Given the description of an element on the screen output the (x, y) to click on. 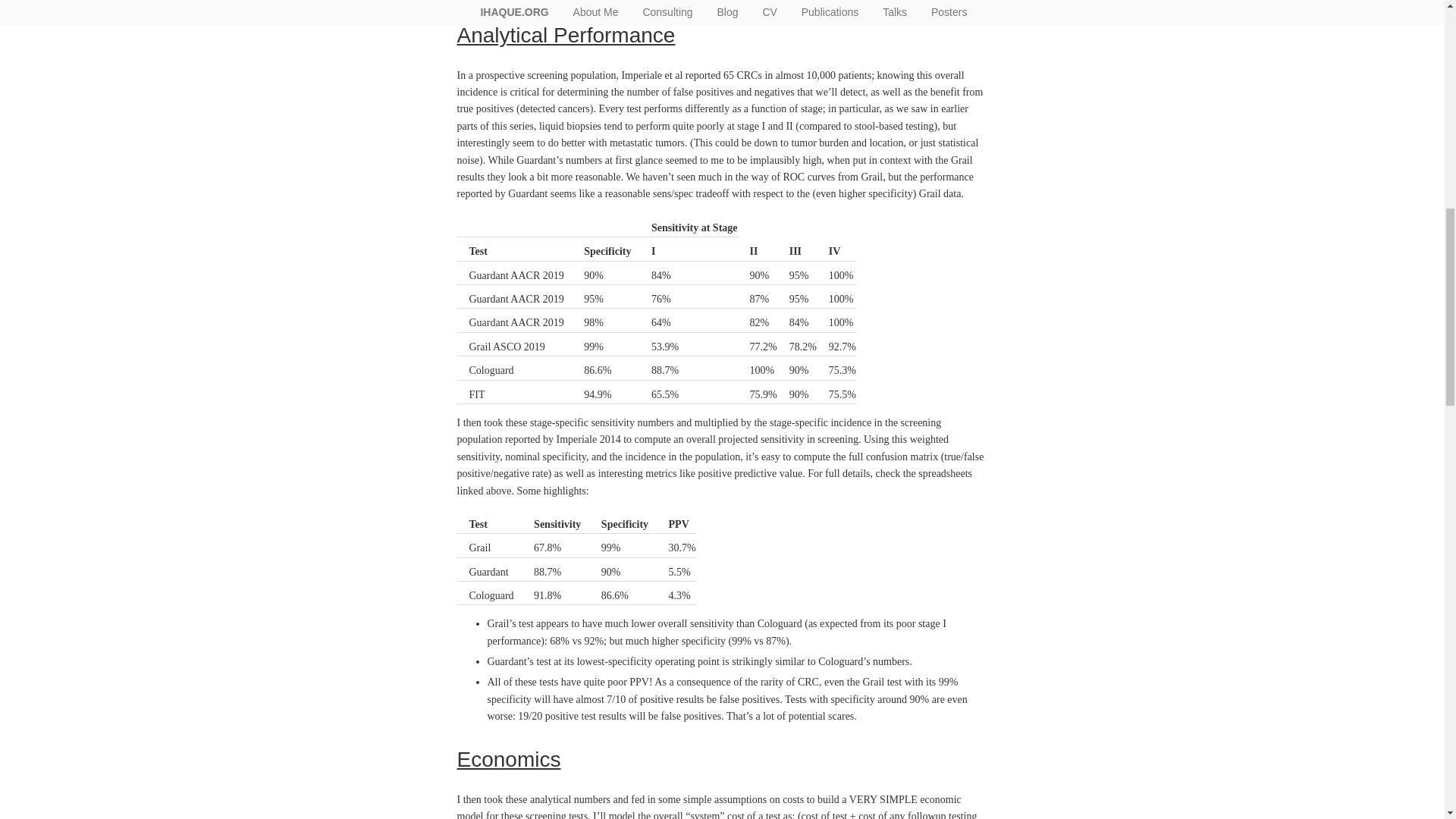
Economics (508, 759)
Analytical Performance (566, 34)
